Given the description of an element on the screen output the (x, y) to click on. 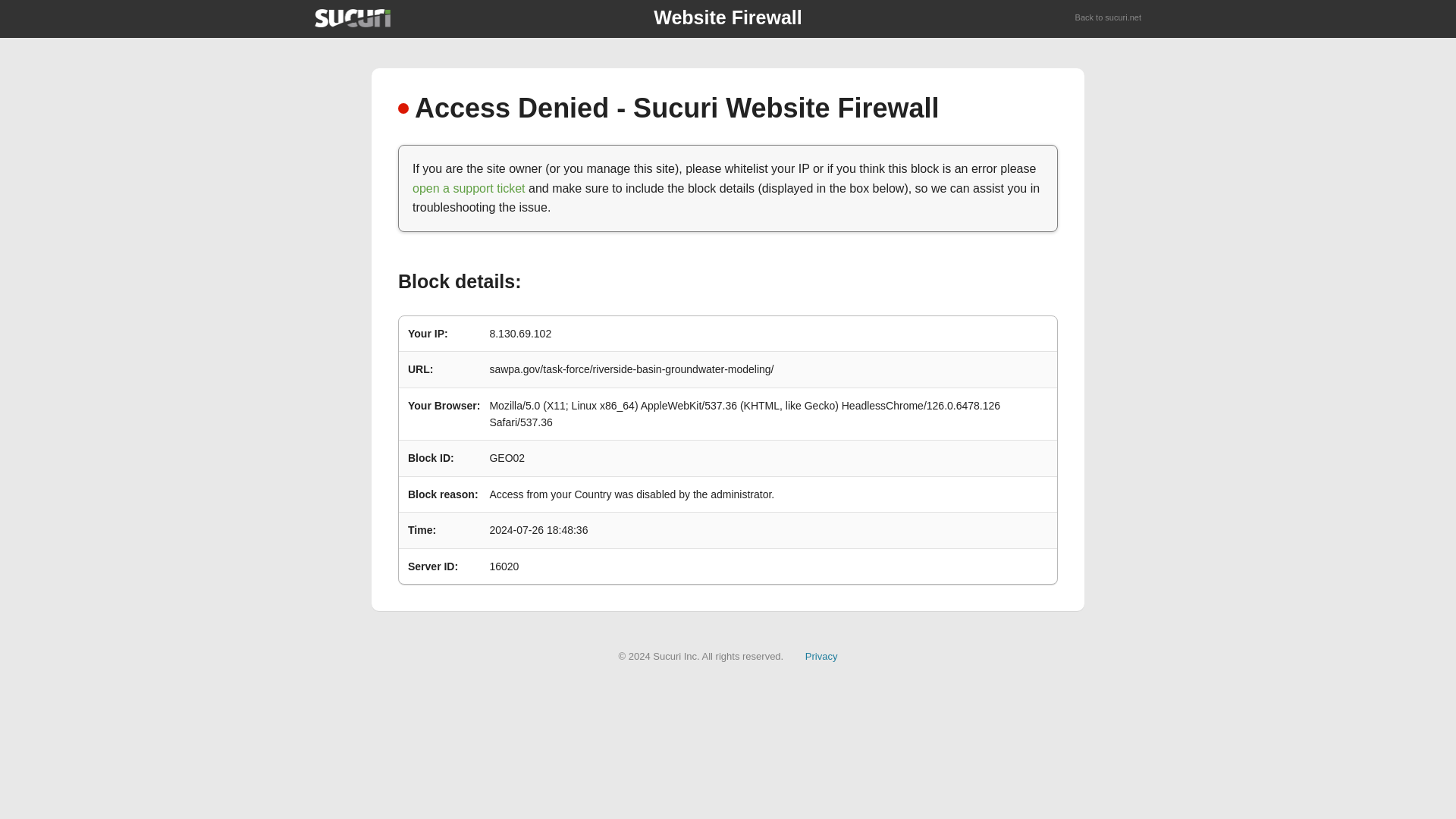
Back to sucuri.net (1108, 18)
Privacy (821, 655)
open a support ticket (468, 187)
